Given the description of an element on the screen output the (x, y) to click on. 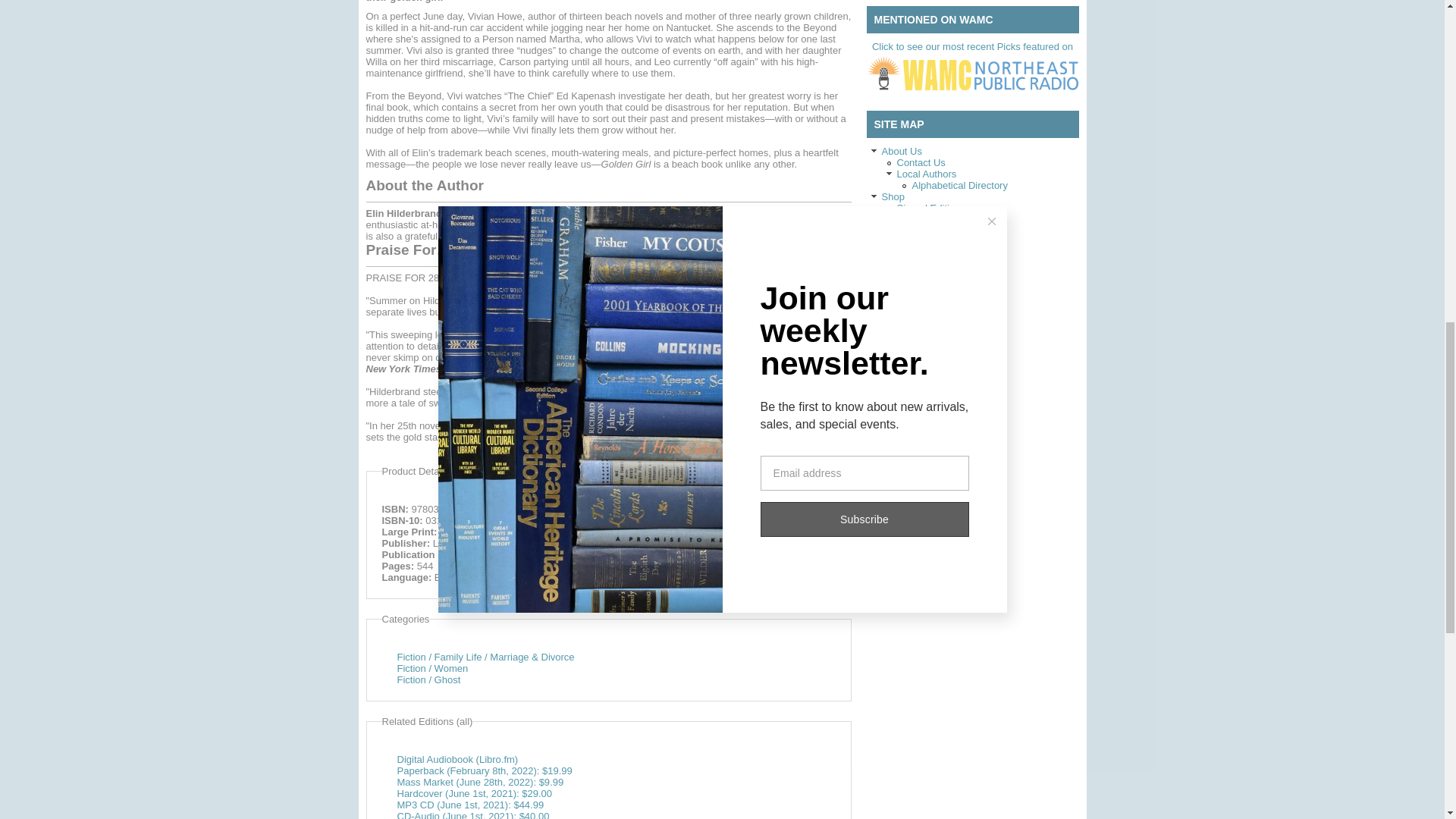
Local Author Alphabetical Directory (959, 184)
The various ways to contact us, depending on what you want (920, 162)
